Given the description of an element on the screen output the (x, y) to click on. 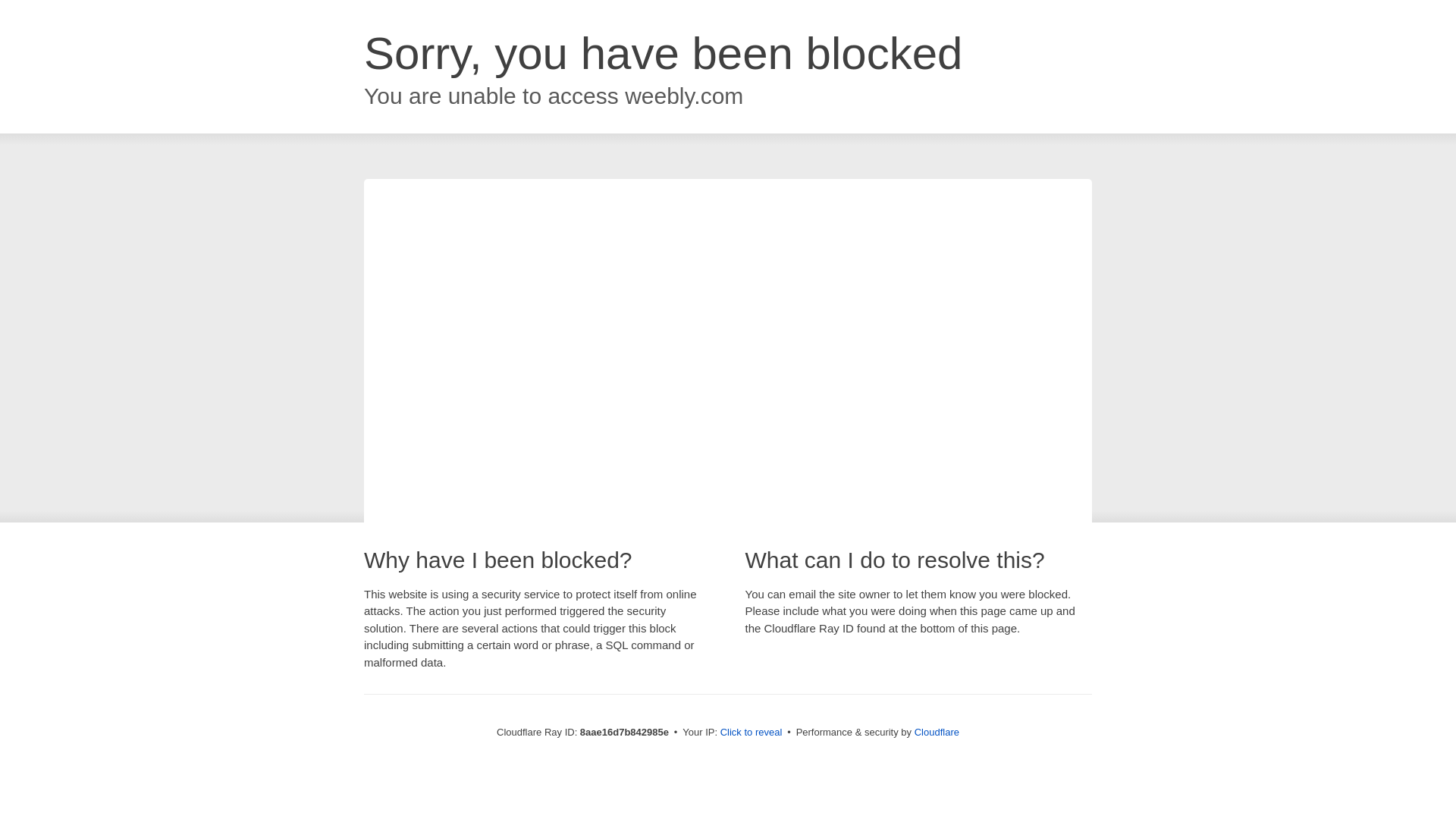
Cloudflare (936, 731)
Click to reveal (751, 732)
